Given the description of an element on the screen output the (x, y) to click on. 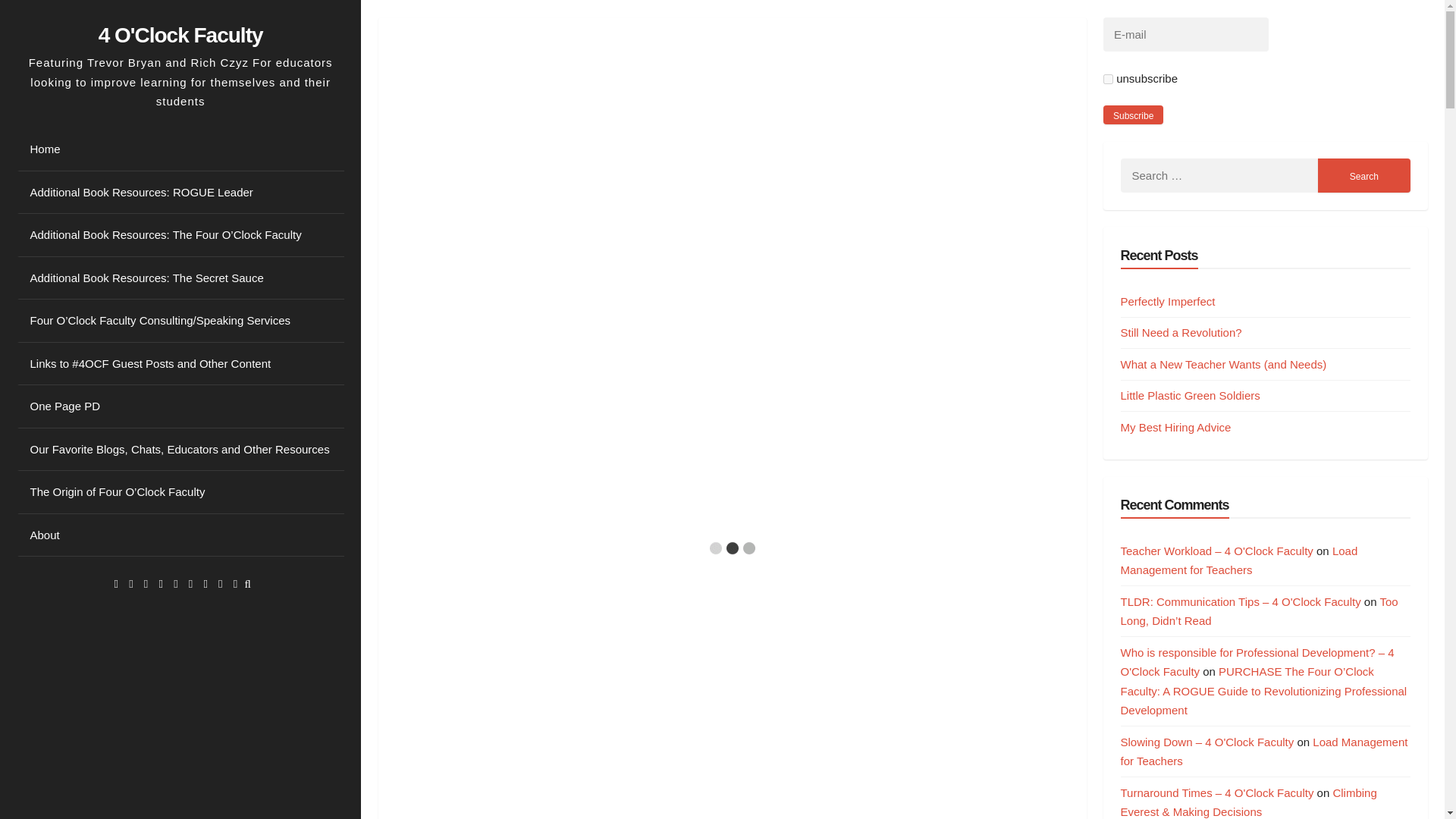
Search (1363, 175)
About (179, 535)
Additional Book Resources: ROGUE Leader (179, 192)
Subscribe (1133, 114)
Our Favorite Blogs, Chats, Educators and Other Resources (179, 449)
Home (179, 149)
yes (1108, 79)
Subscribe (1133, 114)
4 O'Clock Faculty (181, 33)
One Page PD (179, 406)
